Given the description of an element on the screen output the (x, y) to click on. 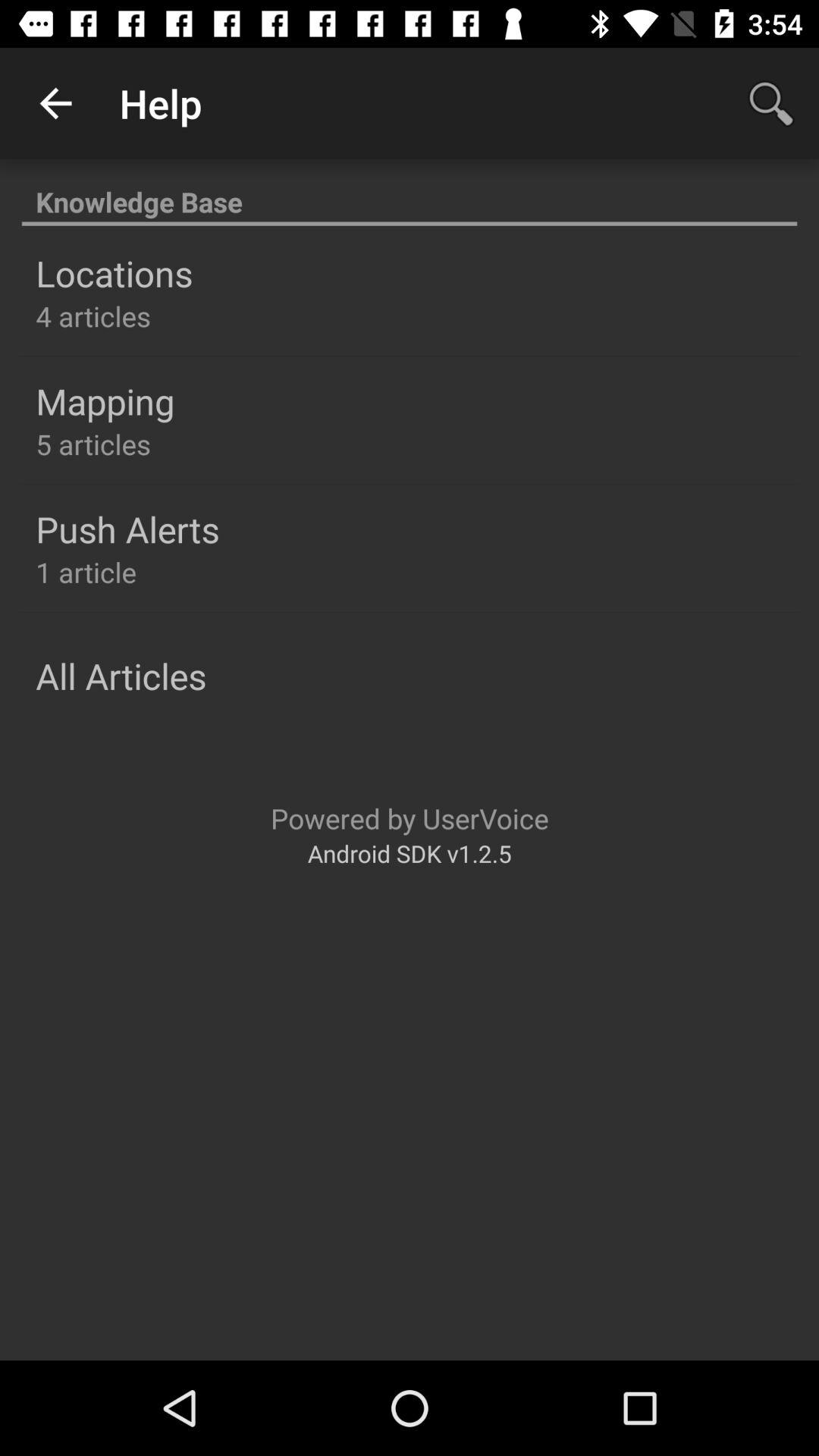
choose icon next to the help (55, 103)
